Given the description of an element on the screen output the (x, y) to click on. 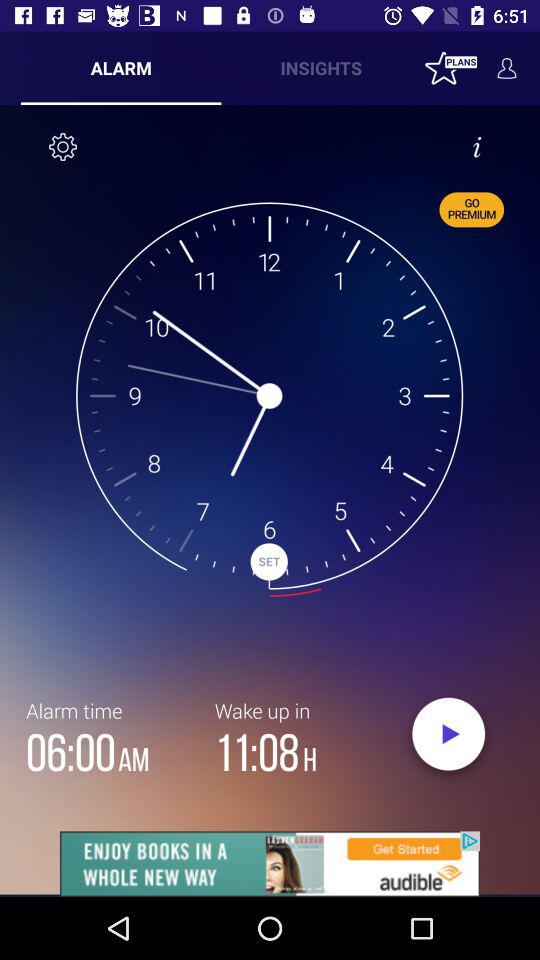
go through advertisement (270, 864)
